Given the description of an element on the screen output the (x, y) to click on. 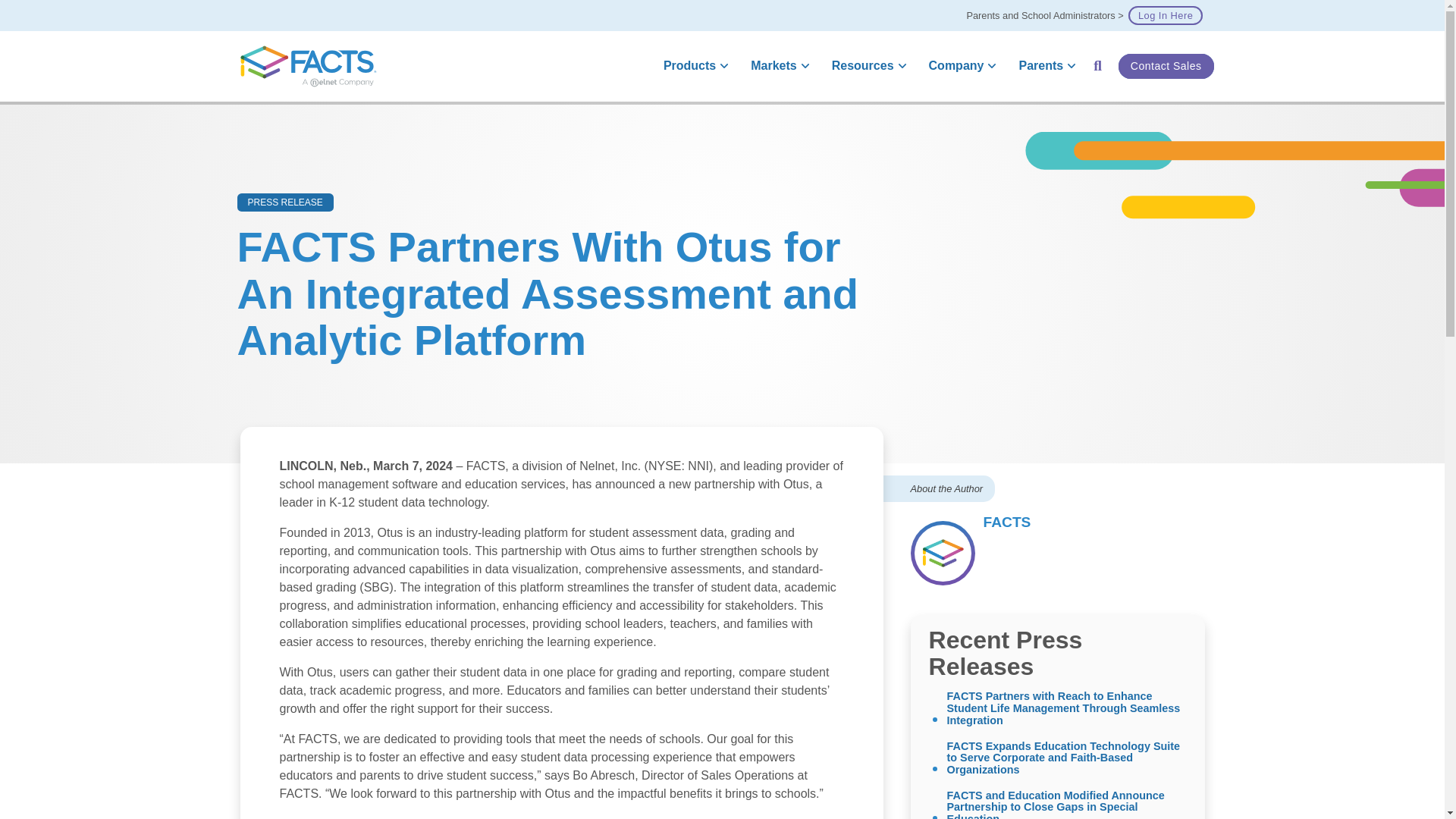
Products (692, 66)
Company (960, 66)
Markets (776, 66)
Resources (866, 66)
Log In Here (1165, 15)
